Given the description of an element on the screen output the (x, y) to click on. 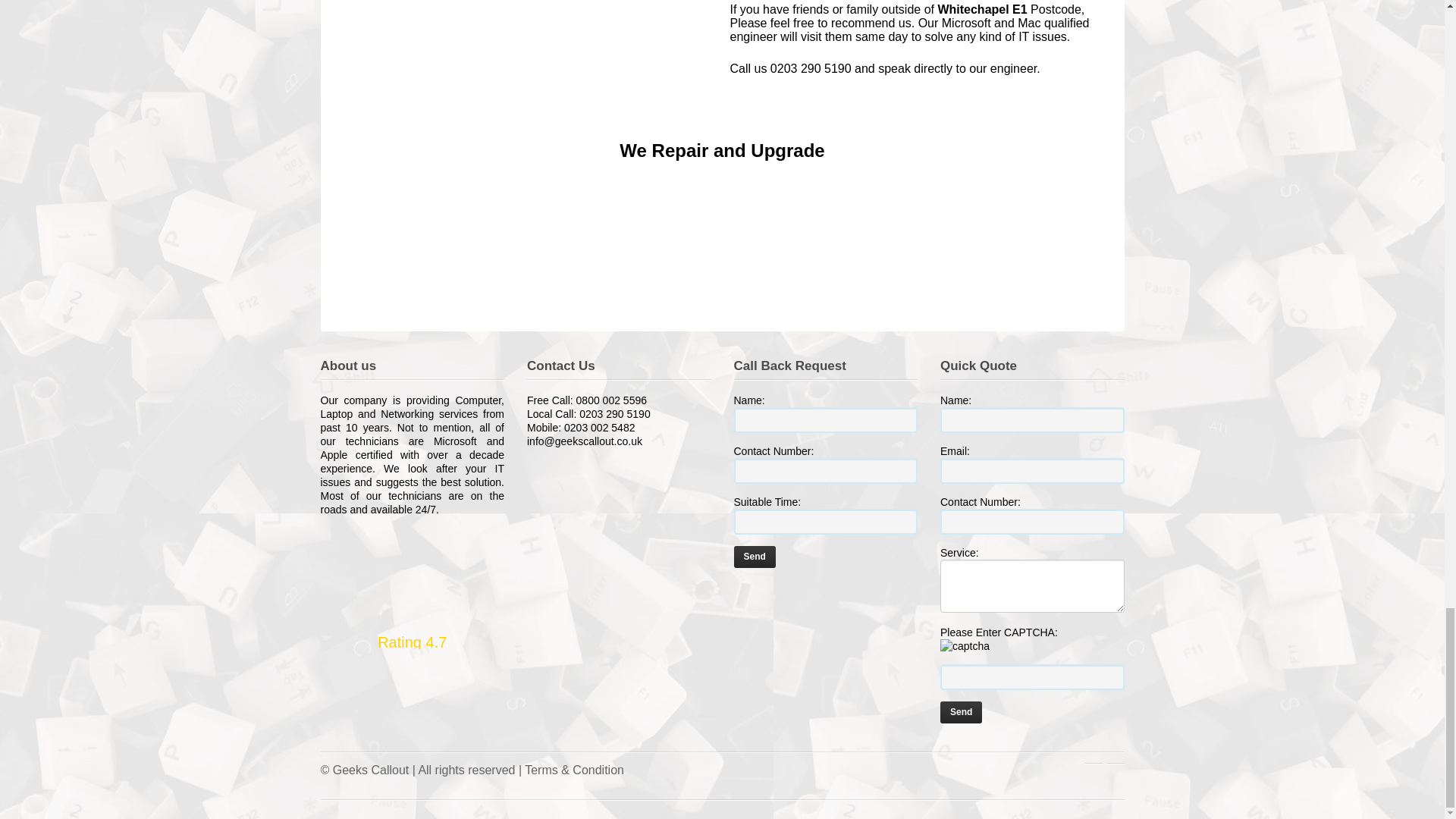
Send (960, 712)
DMCA.com Protection Status (825, 599)
Send (754, 557)
Whitechapel (528, 48)
